Given the description of an element on the screen output the (x, y) to click on. 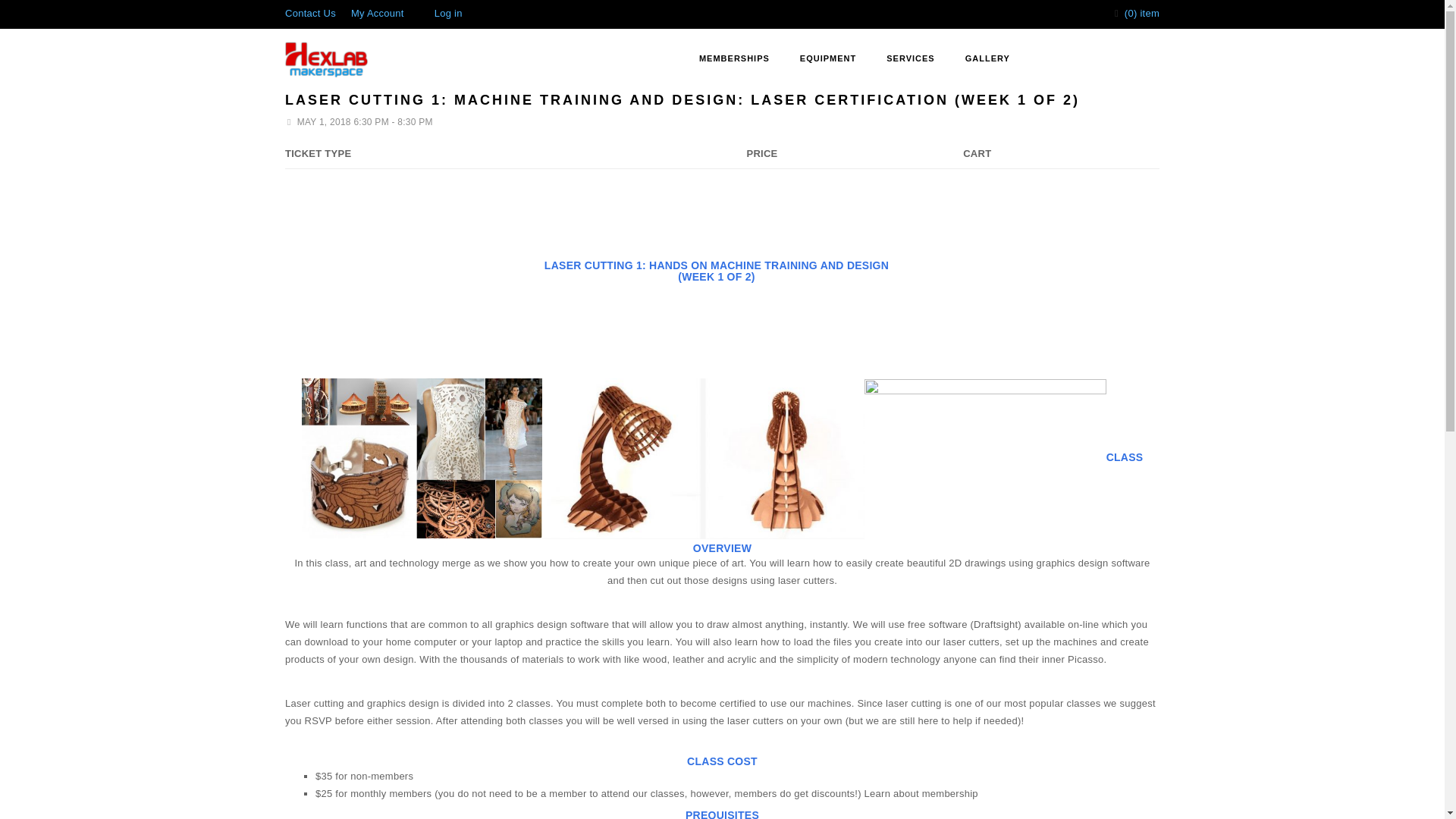
GALLERY (987, 58)
MEMBERSHIPS (734, 58)
SERVICES (910, 58)
EQUIPMENT (827, 58)
Log in (448, 12)
My Account (377, 12)
Contact Us (310, 12)
